Given the description of an element on the screen output the (x, y) to click on. 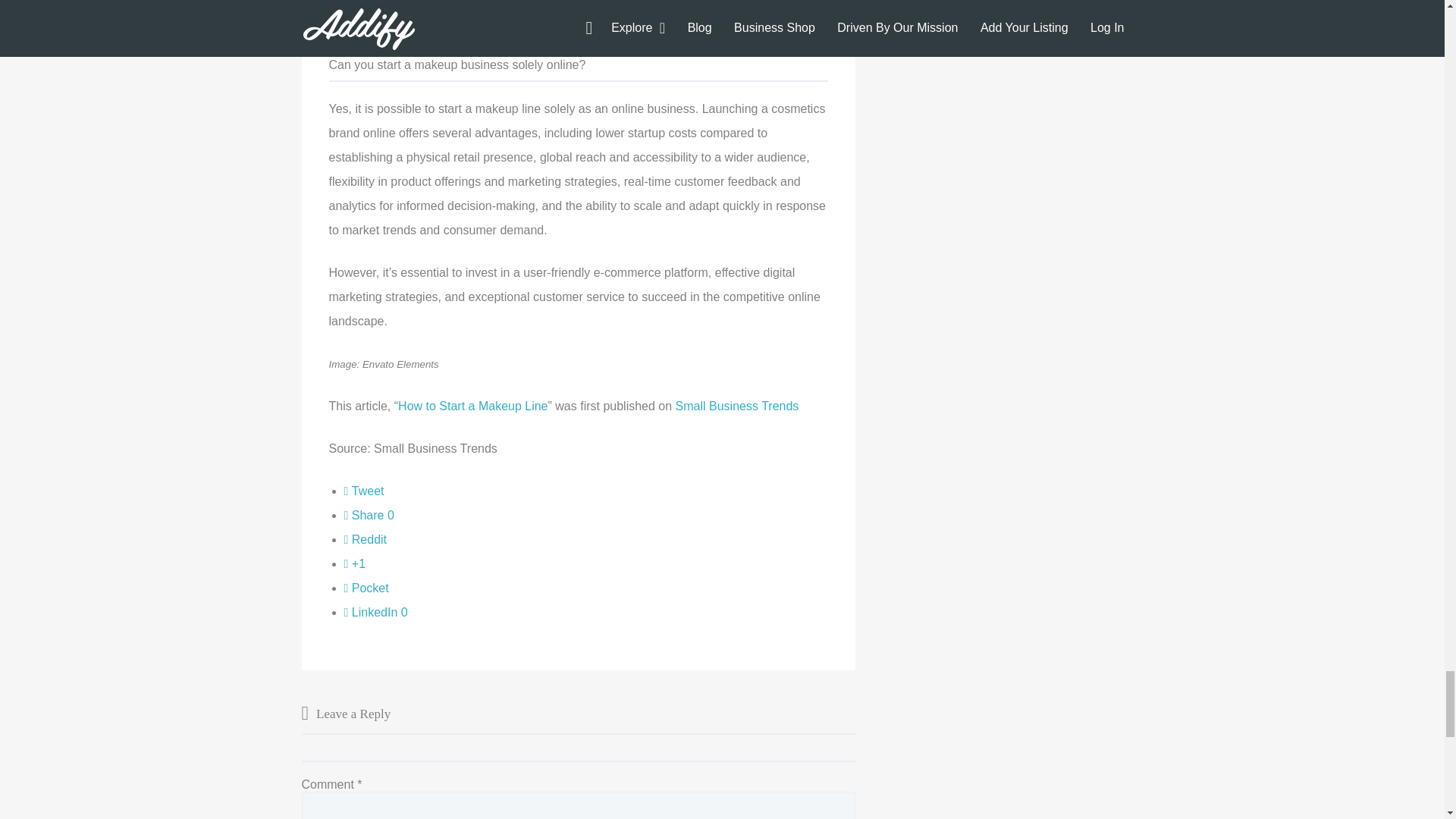
Submit to Reddit (365, 539)
Save to read later on Pocket (365, 587)
Tweet on Twitter (363, 490)
Share on Linkedin (375, 612)
Share on Facebook (368, 514)
